Given the description of an element on the screen output the (x, y) to click on. 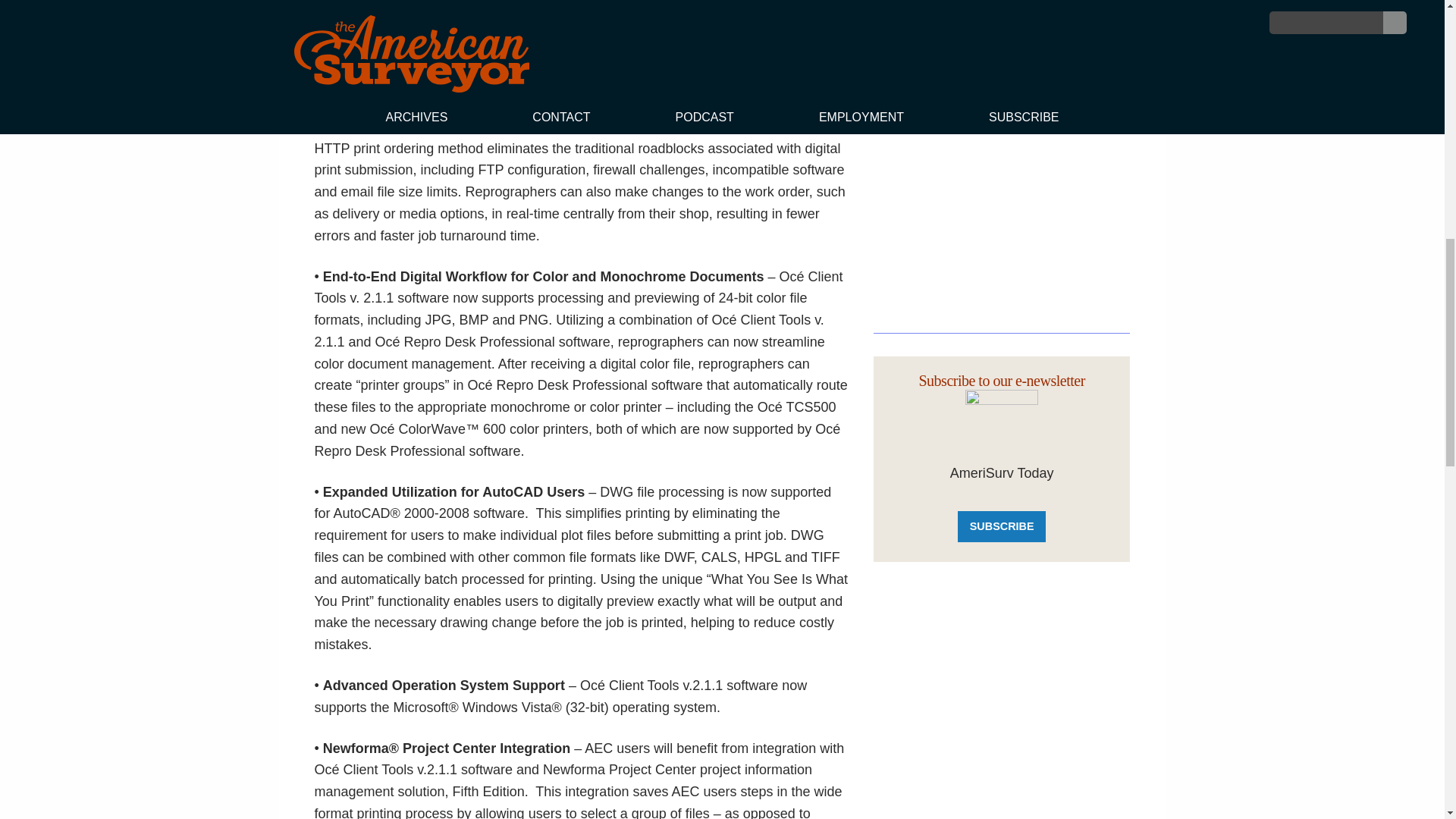
SUBSCRIBE (1001, 526)
